Given the description of an element on the screen output the (x, y) to click on. 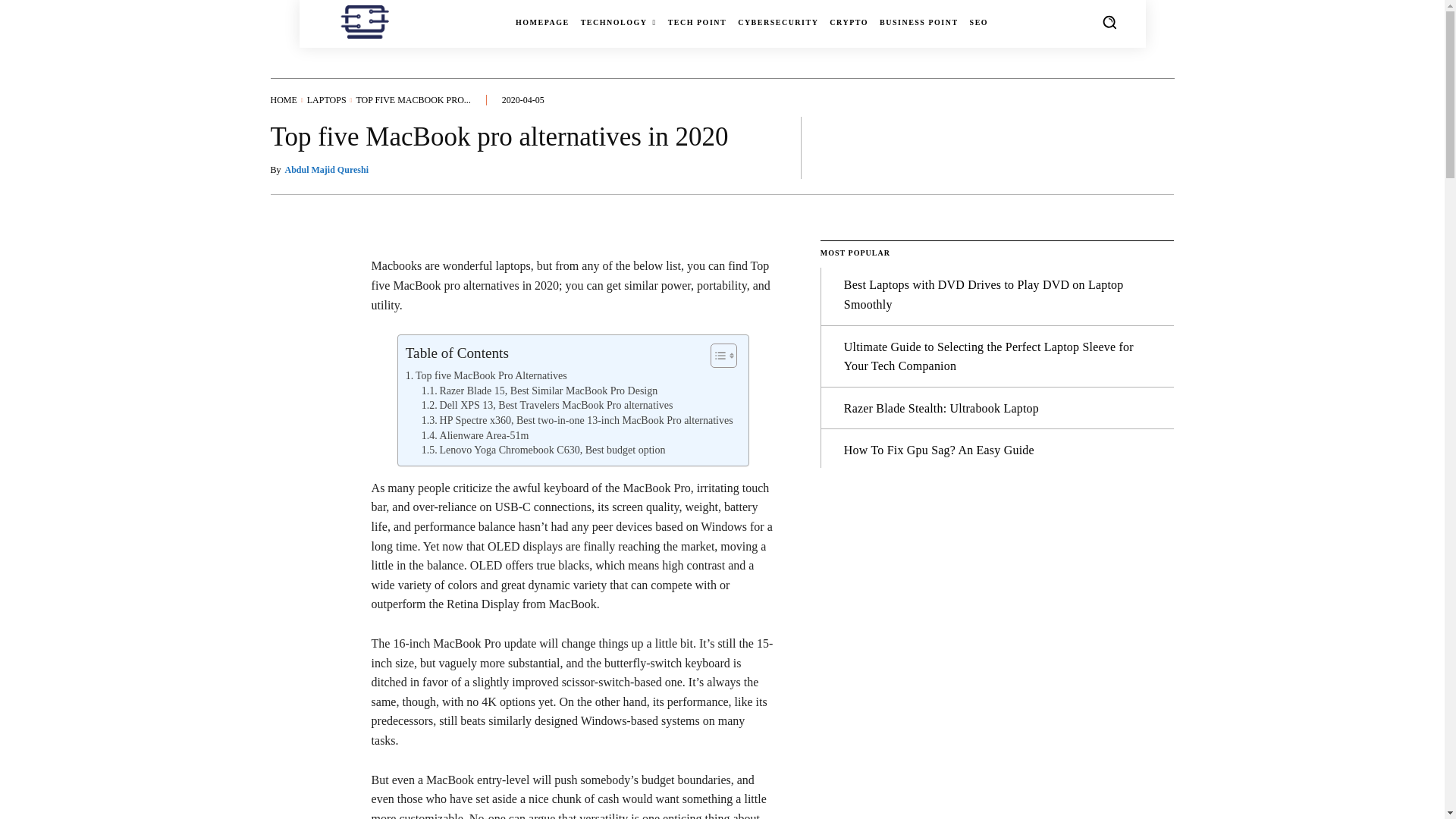
BUSINESS POINT (918, 22)
TECH POINT (697, 22)
View all posts in Laptops (326, 100)
TechSAA (366, 21)
CRYPTO (848, 22)
Abdul Majid Qureshi (326, 169)
HOMEPAGE (542, 22)
TECHNOLOGY (618, 22)
HOME (283, 100)
CYBERSECURITY (778, 22)
LAPTOPS (326, 100)
Dell XPS 13, Best Travelers MacBook Pro alternatives (547, 405)
SEO (978, 22)
Top five MacBook Pro Alternatives (486, 376)
